Given the description of an element on the screen output the (x, y) to click on. 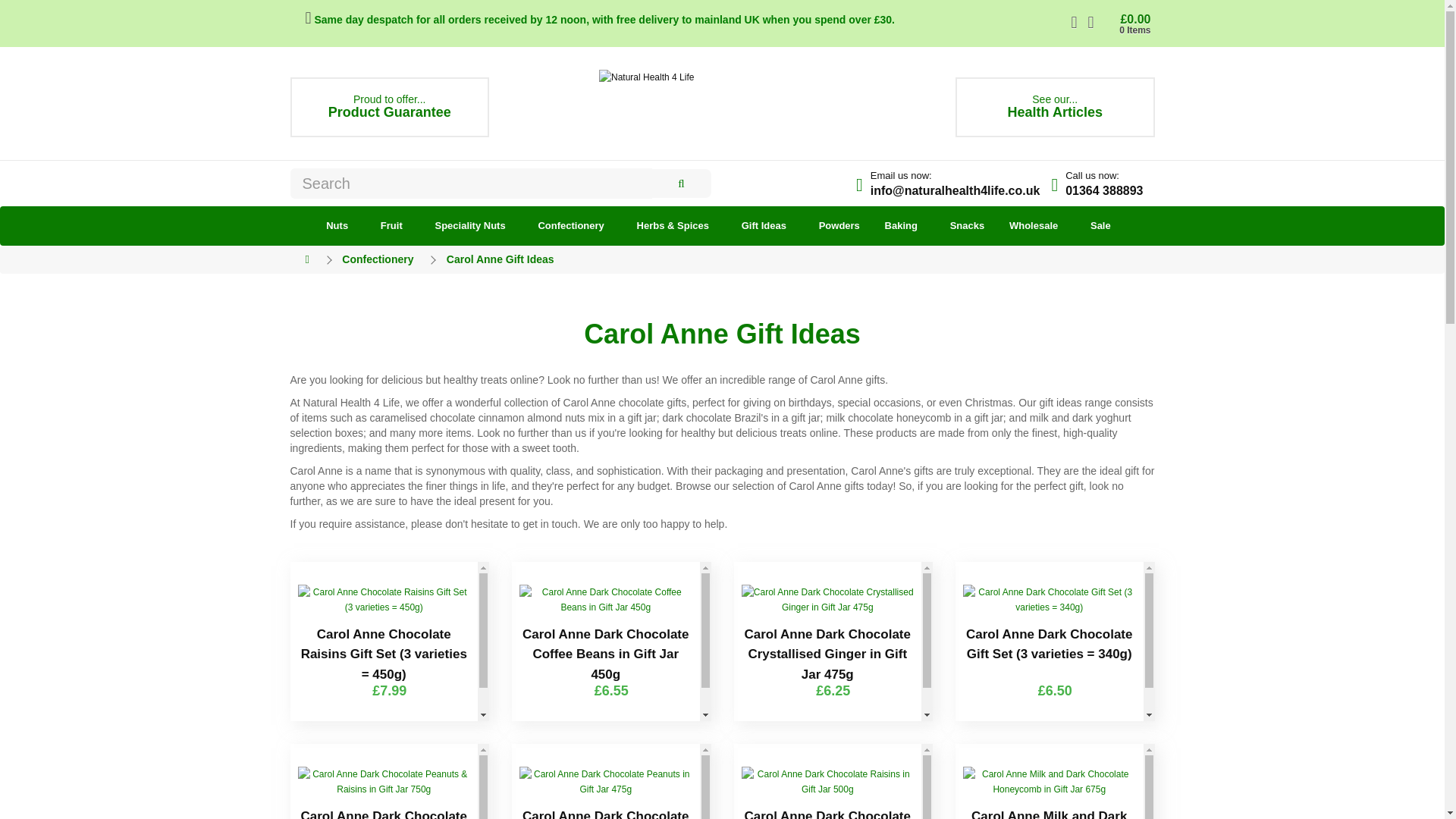
Natural Health 4 Life (1054, 106)
Confectionery (721, 77)
Nuts (569, 225)
Carol Anne Dark Chocolate Raisins in Gift Jar 500g (336, 225)
01364 388893 (827, 781)
Carol Anne Dark Chocolate Coffee Beans in Gift Jar 450g (389, 106)
